Given the description of an element on the screen output the (x, y) to click on. 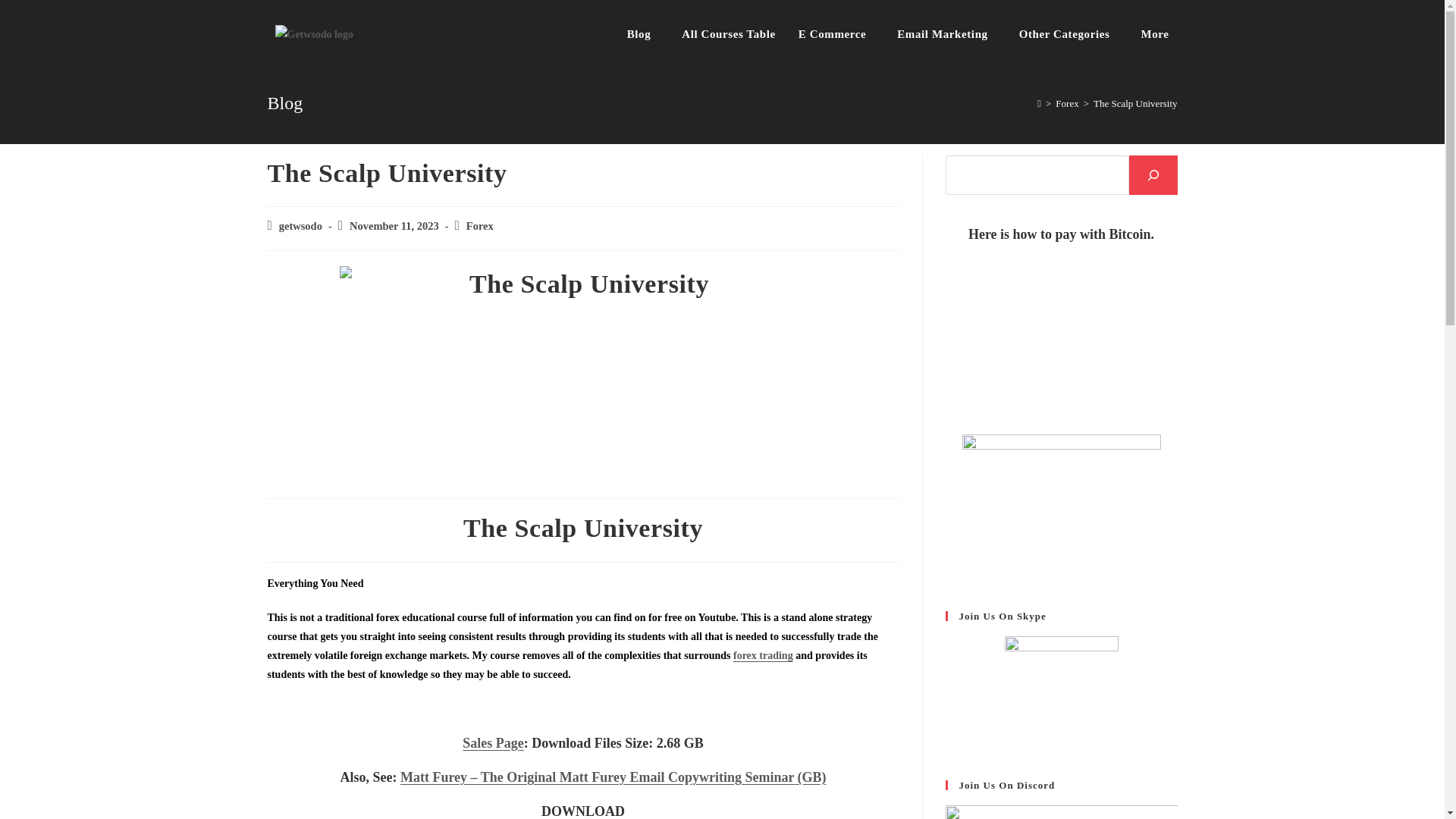
Posts by getwsodo (300, 225)
The Scalp University (583, 374)
Email Marketing (946, 34)
E Commerce (836, 34)
Blog (643, 34)
Other Categories (1068, 34)
More (1158, 34)
All Courses Table (728, 34)
